Given the description of an element on the screen output the (x, y) to click on. 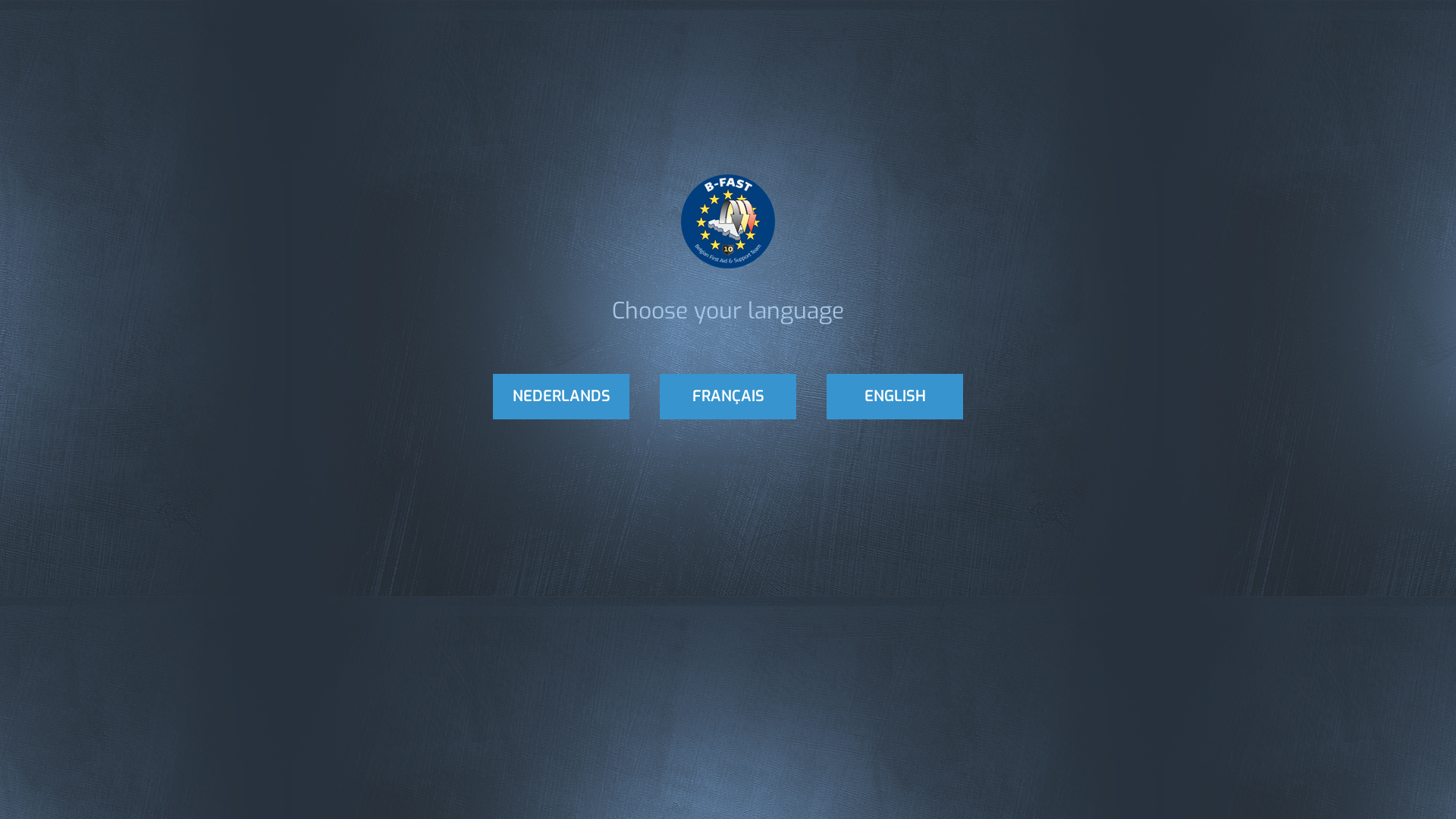
NEDERLANDS Element type: text (560, 396)
Aller au contenu principal Element type: text (59, 0)
ENGLISH Element type: text (894, 396)
